Given the description of an element on the screen output the (x, y) to click on. 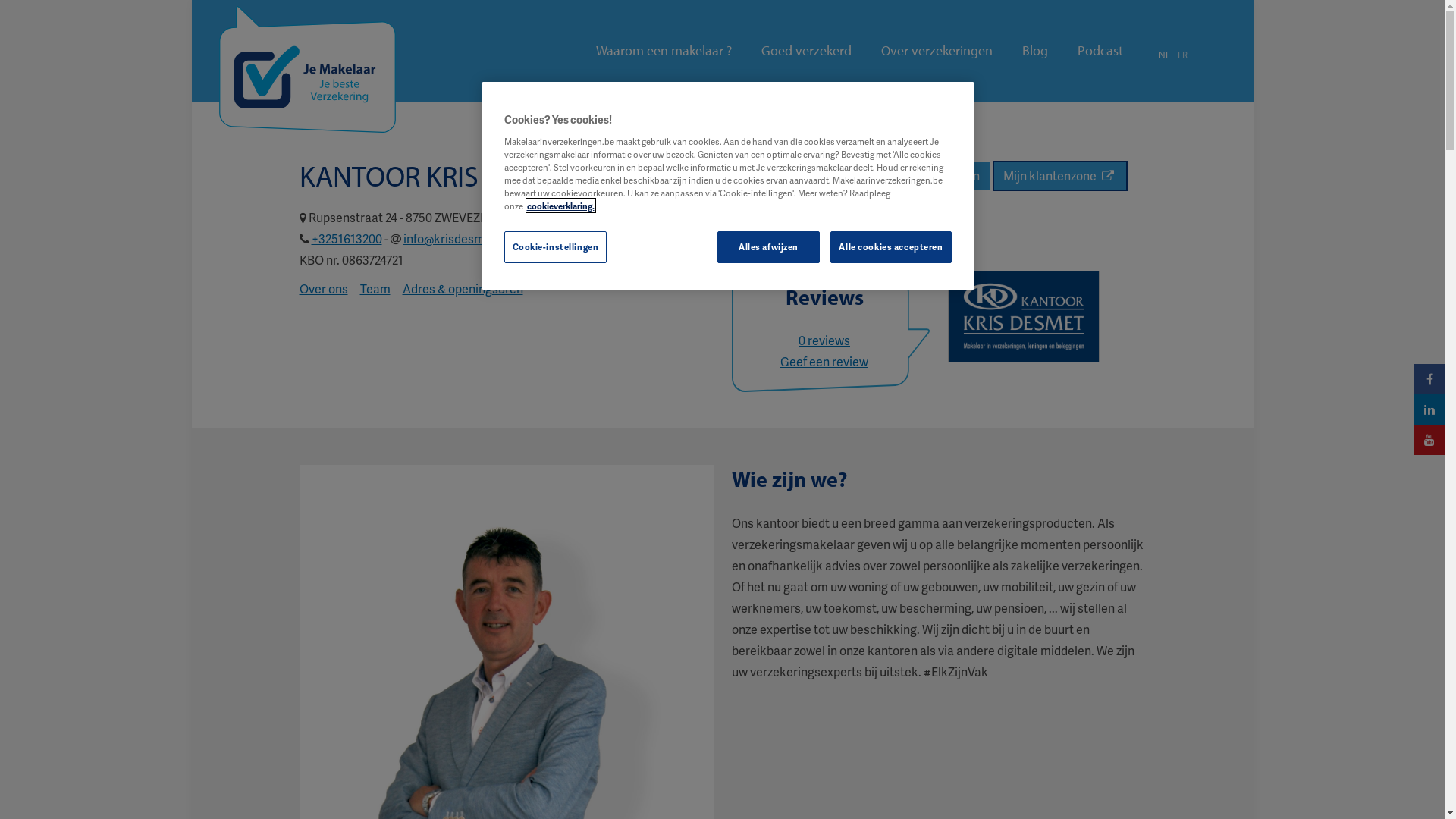
cookieverklaring. Element type: text (559, 205)
info@krisdesmet.be Element type: text (457, 238)
Team Element type: text (374, 288)
Cookie-instellingen Element type: text (554, 247)
0 reviews Element type: text (824, 339)
Alles afwijzen Element type: text (768, 247)
Over verzekeringen Element type: text (936, 50)
Over ons Element type: text (322, 288)
+3251613200 Element type: text (345, 238)
Contact Element type: text (861, 175)
Podcast Element type: text (1099, 50)
Waarom een makelaar ? Element type: text (663, 50)
Documenten Element type: text (943, 175)
Blog Element type: text (1034, 50)
Mijn klantenzone Element type: text (1058, 175)
Geef een review Element type: text (824, 361)
Goed verzekerd Element type: text (806, 50)
Adres & openingsuren Element type: text (461, 288)
Alle cookies accepteren Element type: text (890, 247)
NL Element type: text (1164, 54)
FR Element type: text (1181, 54)
